Given the description of an element on the screen output the (x, y) to click on. 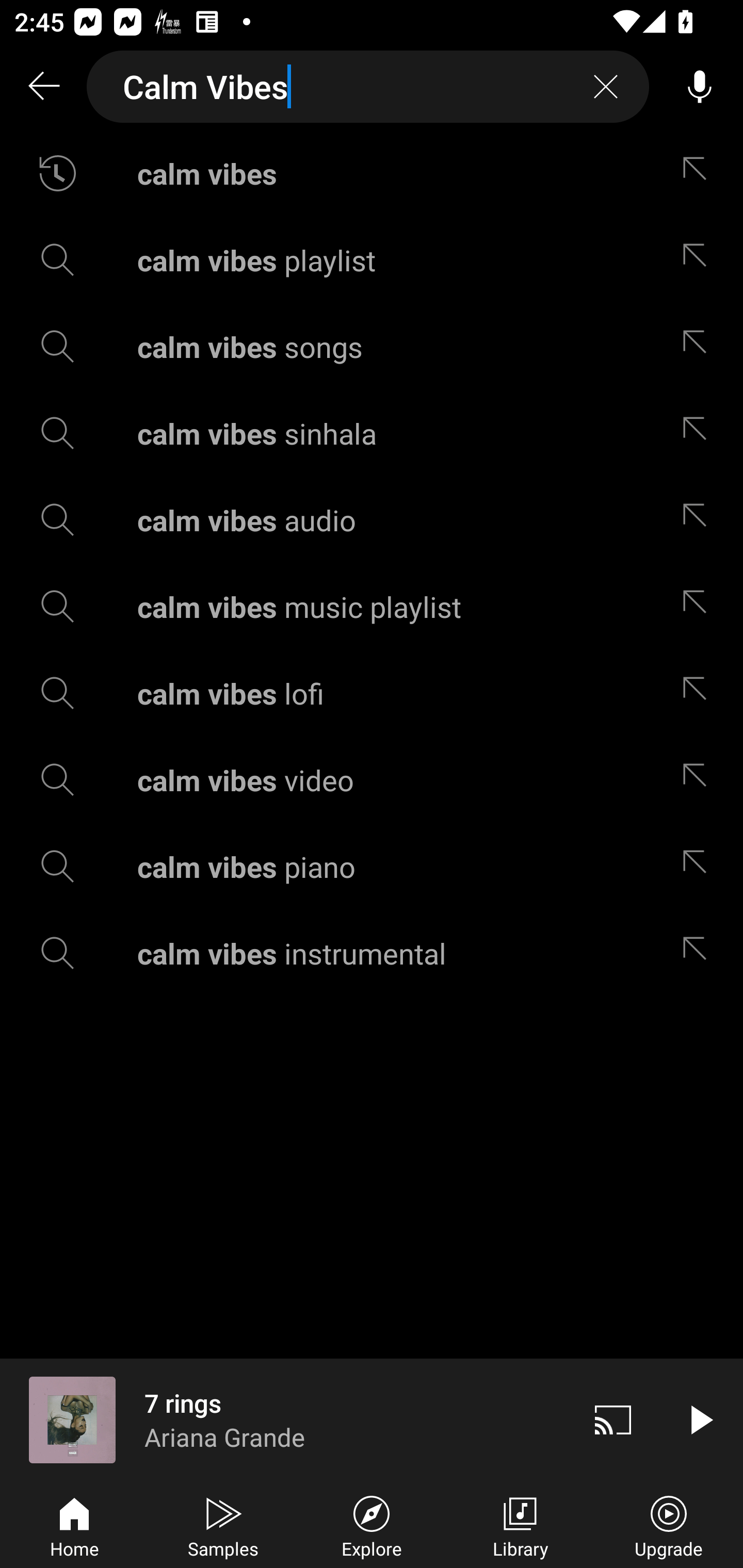
Search back (43, 86)
Calm Vibes (367, 86)
Clear search (605, 86)
Voice search (699, 86)
calm vibes Edit suggestion calm vibes (371, 173)
Edit suggestion calm vibes (699, 173)
Edit suggestion calm vibes playlist (699, 259)
calm vibes songs Edit suggestion calm vibes songs (371, 346)
Edit suggestion calm vibes songs (699, 346)
Edit suggestion calm vibes sinhala (699, 433)
calm vibes audio Edit suggestion calm vibes audio (371, 519)
Edit suggestion calm vibes audio (699, 519)
Edit suggestion calm vibes music playlist (699, 605)
calm vibes lofi Edit suggestion calm vibes lofi (371, 692)
Edit suggestion calm vibes lofi (699, 692)
calm vibes video Edit suggestion calm vibes video (371, 779)
Edit suggestion calm vibes video (699, 779)
calm vibes piano Edit suggestion calm vibes piano (371, 866)
Edit suggestion calm vibes piano (699, 866)
Edit suggestion calm vibes instrumental (699, 953)
7 rings Ariana Grande (284, 1419)
Cast. Disconnected (612, 1419)
Play video (699, 1419)
Home (74, 1524)
Samples (222, 1524)
Explore (371, 1524)
Library (519, 1524)
Upgrade (668, 1524)
